Given the description of an element on the screen output the (x, y) to click on. 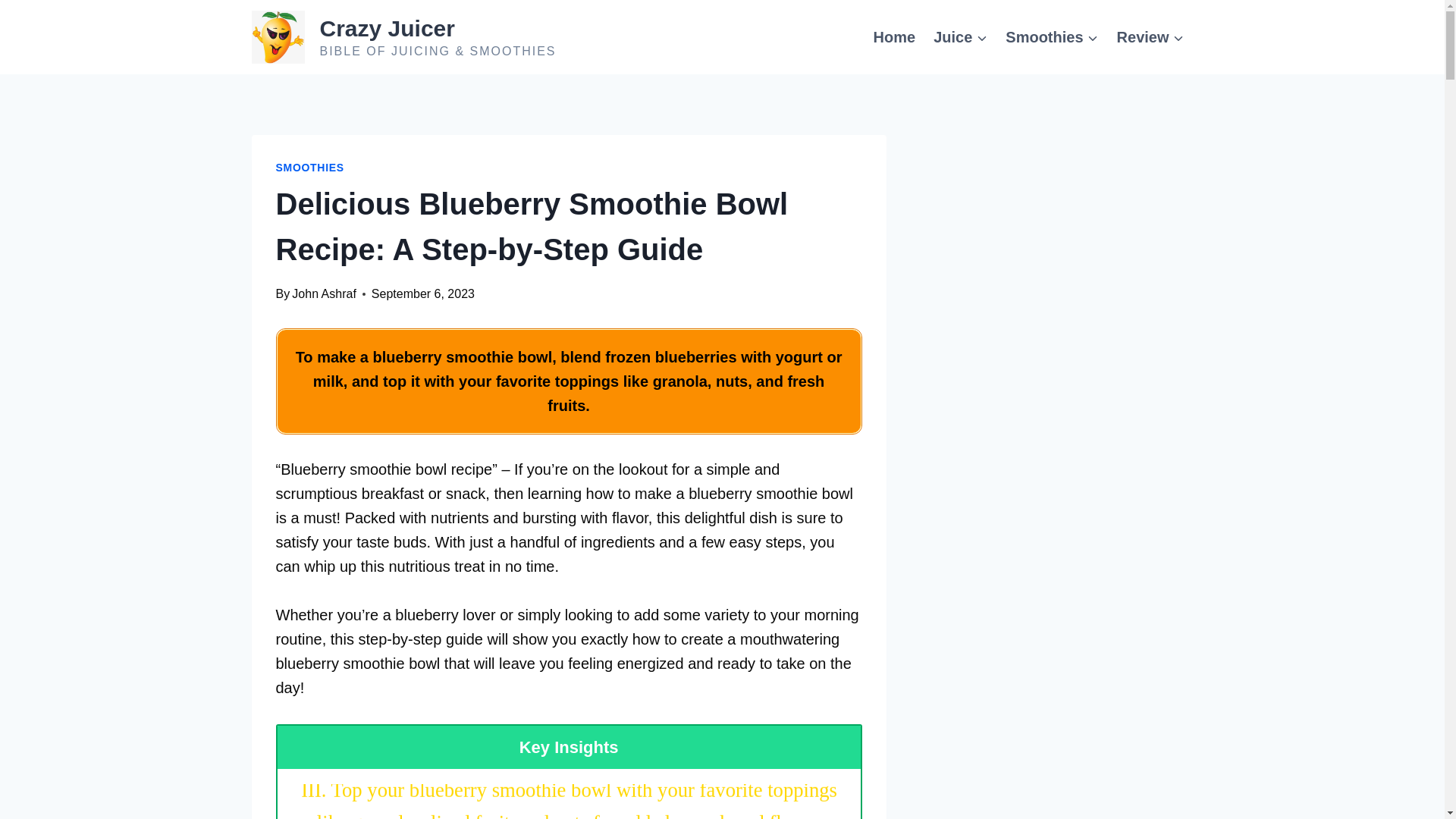
SMOOTHIES (309, 167)
Juice (959, 36)
John Ashraf (324, 293)
Home (894, 36)
Review (1150, 36)
Smoothies (1050, 36)
